Given the description of an element on the screen output the (x, y) to click on. 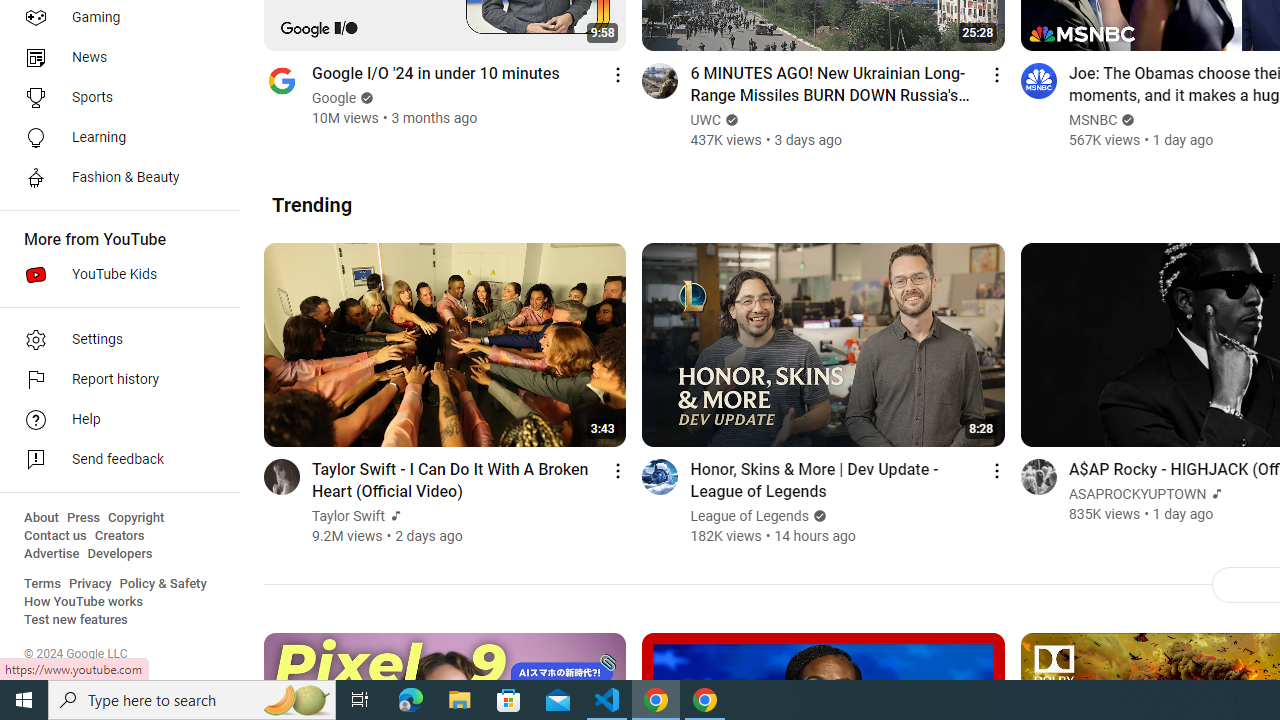
About (41, 518)
How YouTube works (83, 602)
Help (113, 419)
Fashion & Beauty (113, 177)
ASAPROCKYUPTOWN (1137, 493)
Press (83, 518)
